Given the description of an element on the screen output the (x, y) to click on. 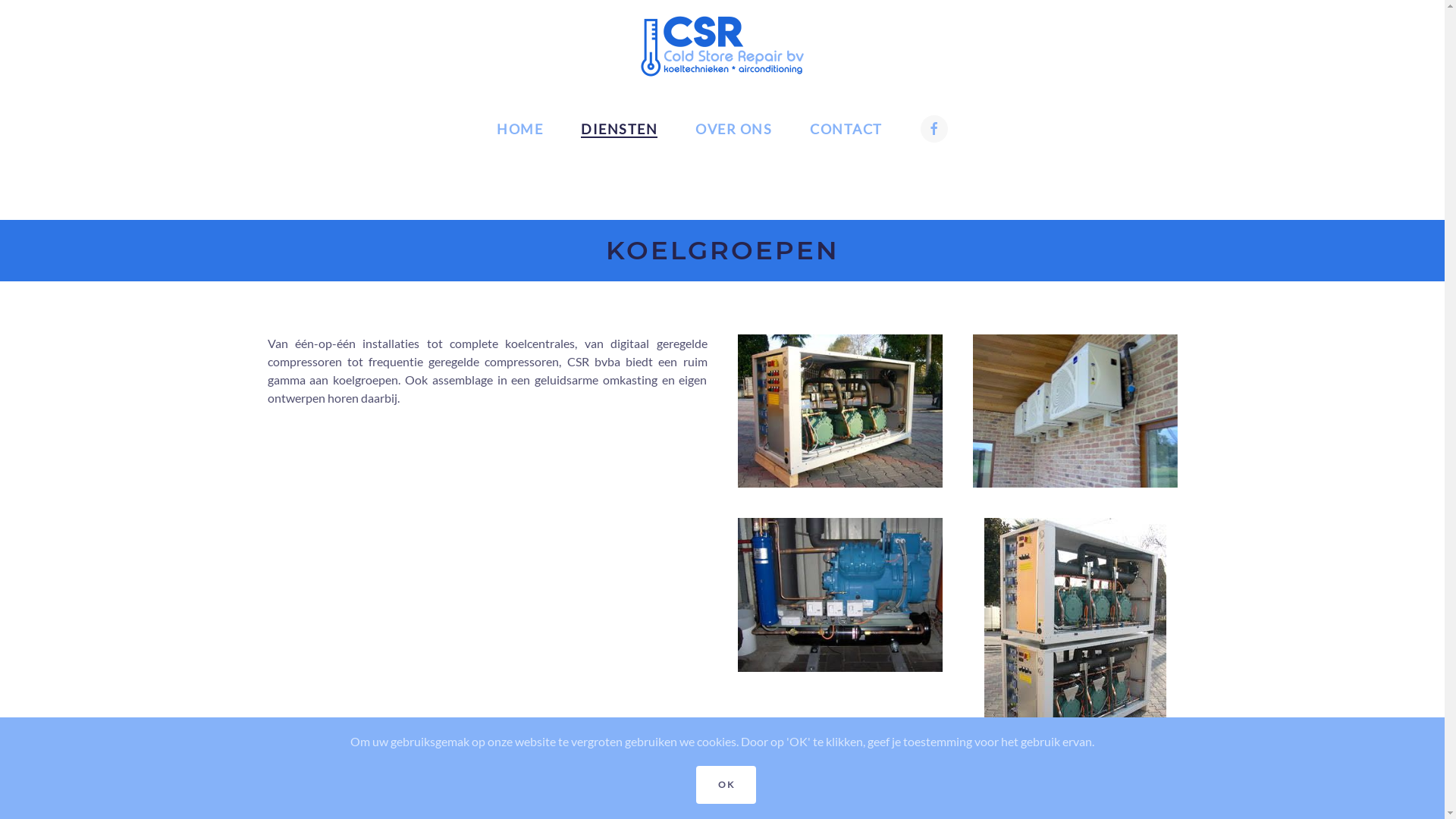
HOME Element type: text (519, 128)
OVER ONS Element type: text (733, 128)
DIENSTEN Element type: text (618, 128)
CONTACT Element type: text (845, 128)
OK Element type: text (726, 784)
